Given the description of an element on the screen output the (x, y) to click on. 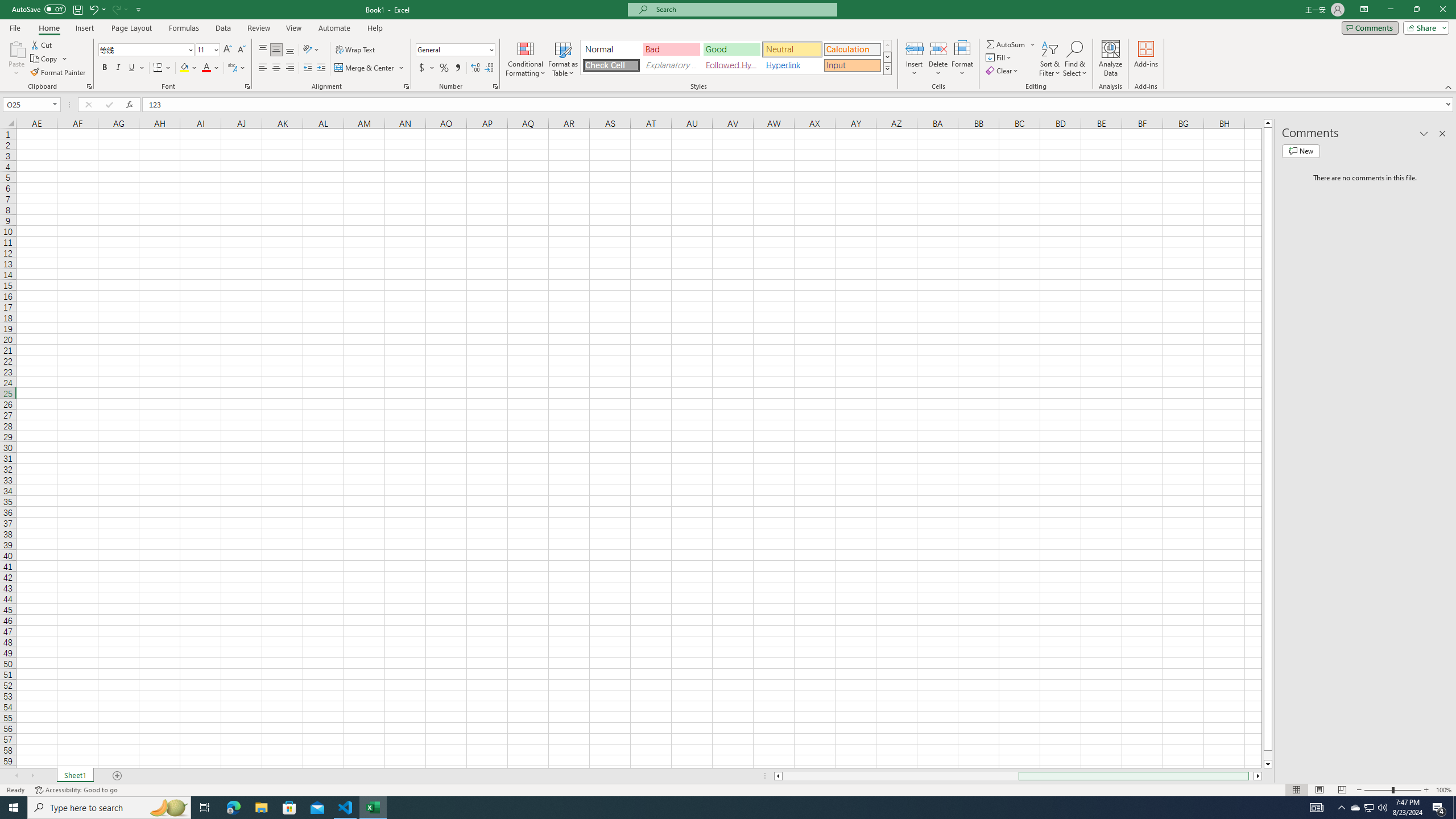
Good (731, 49)
Font (147, 49)
Cut (42, 44)
Format as Table (563, 58)
Class: NetUIImage (887, 68)
AutoSum (1011, 44)
